Given the description of an element on the screen output the (x, y) to click on. 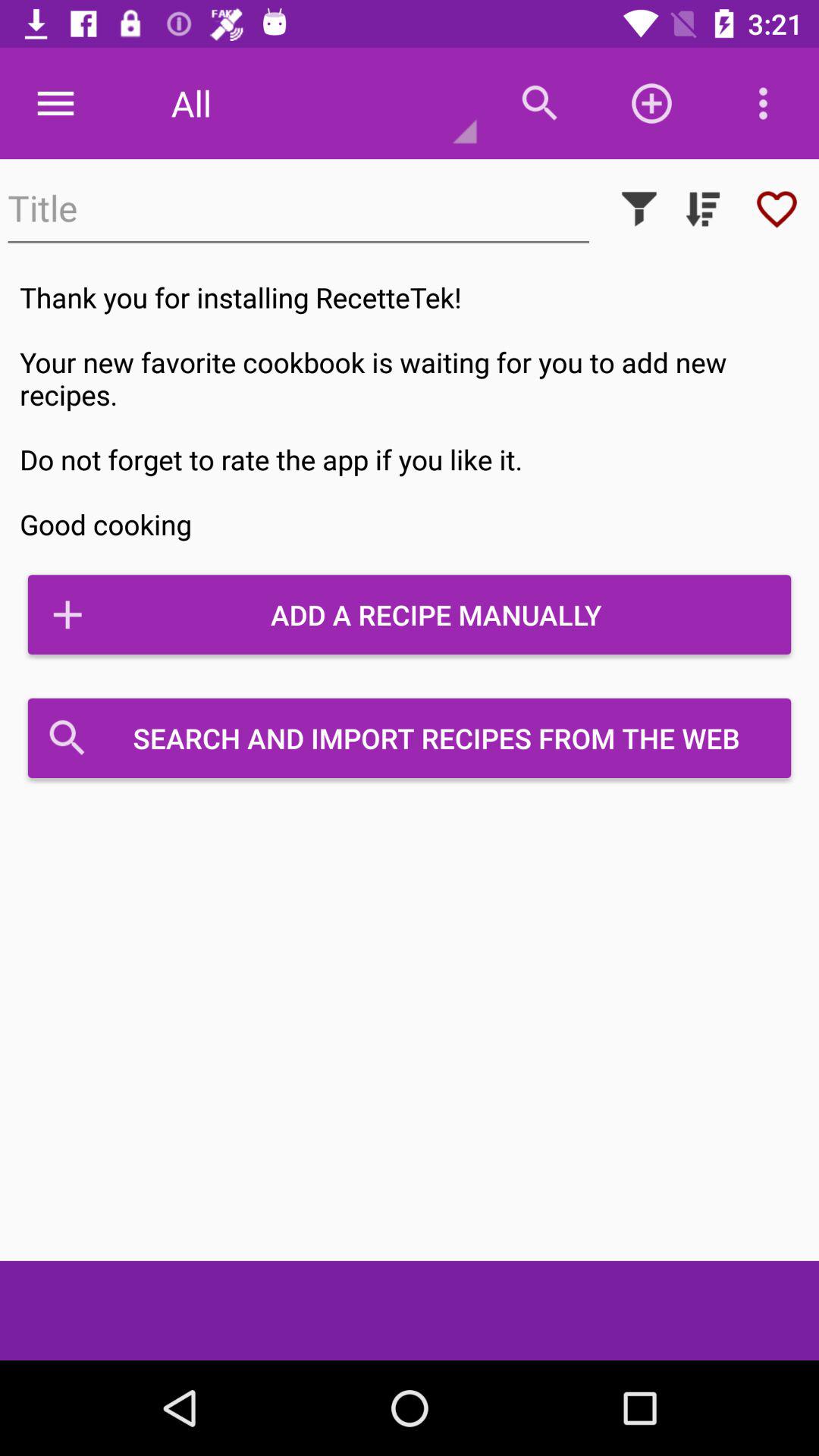
add title (298, 208)
